Given the description of an element on the screen output the (x, y) to click on. 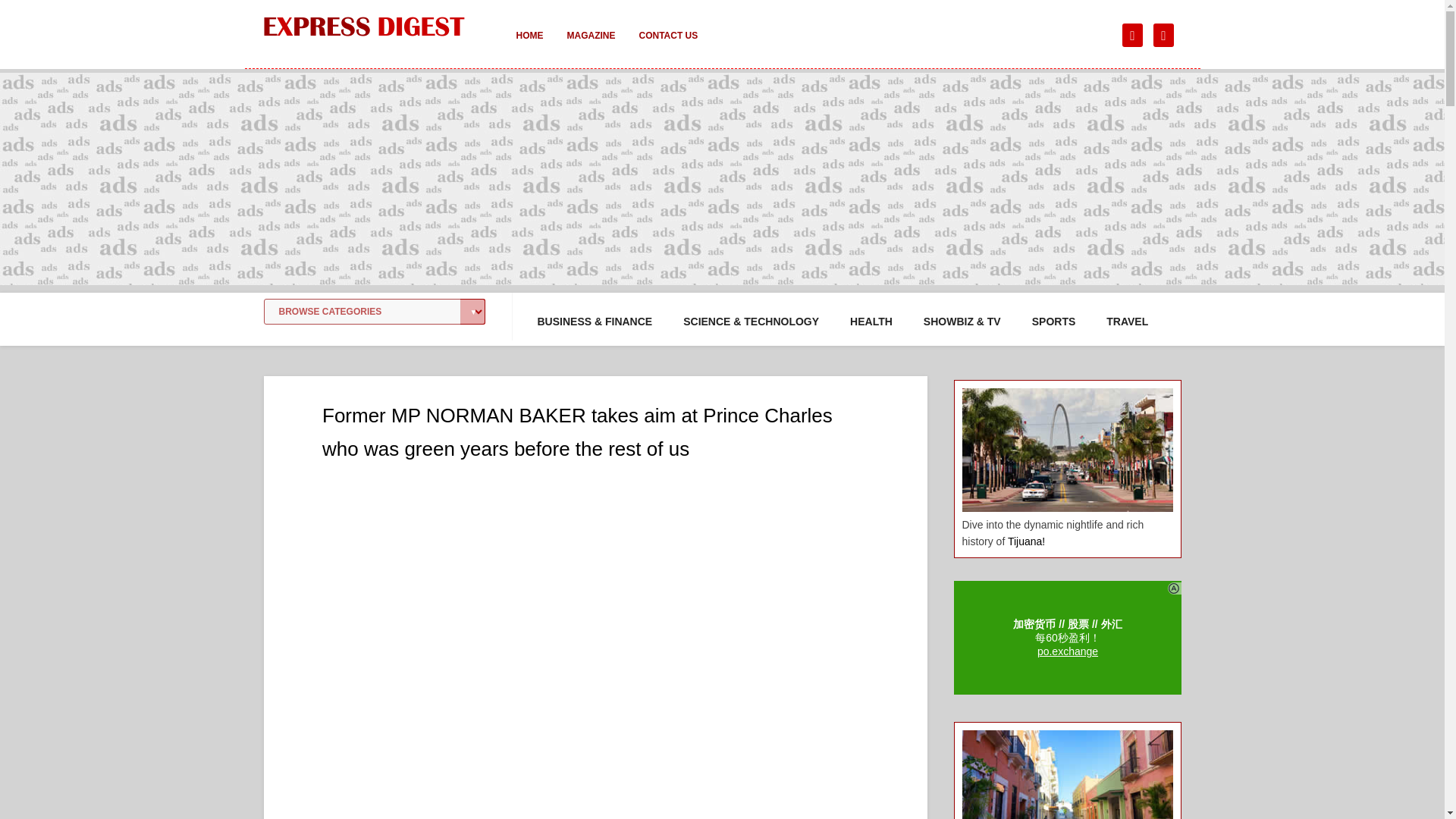
TRAVEL (1127, 321)
CONTACT US (667, 45)
MAGAZINE (590, 45)
Tijuana! (1026, 541)
HEALTH (871, 321)
SPORTS (1053, 321)
